Given the description of an element on the screen output the (x, y) to click on. 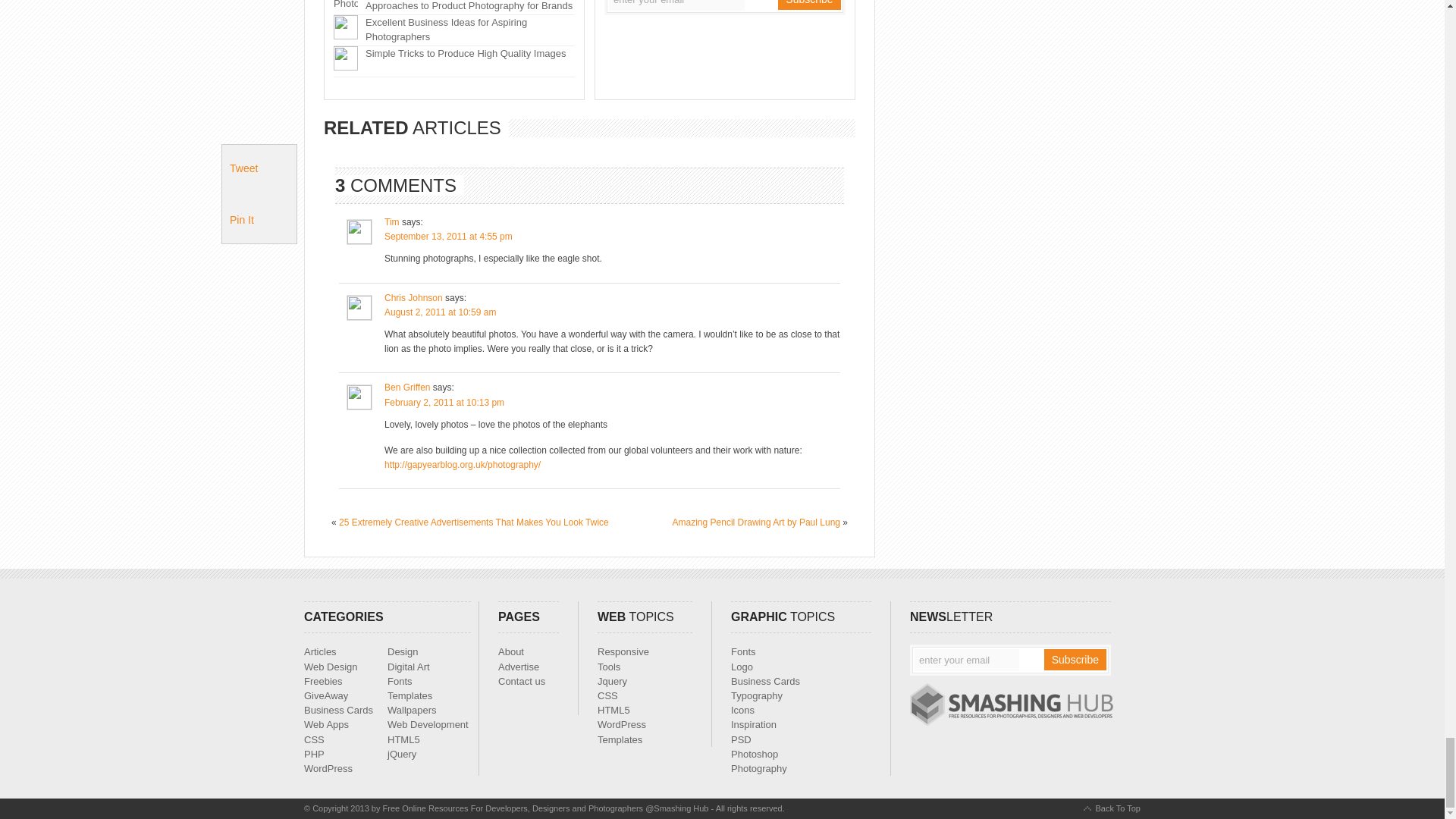
Subscribe (1074, 659)
Subscribe (808, 4)
Enter your email (966, 659)
Enter your email (676, 5)
